Given the description of an element on the screen output the (x, y) to click on. 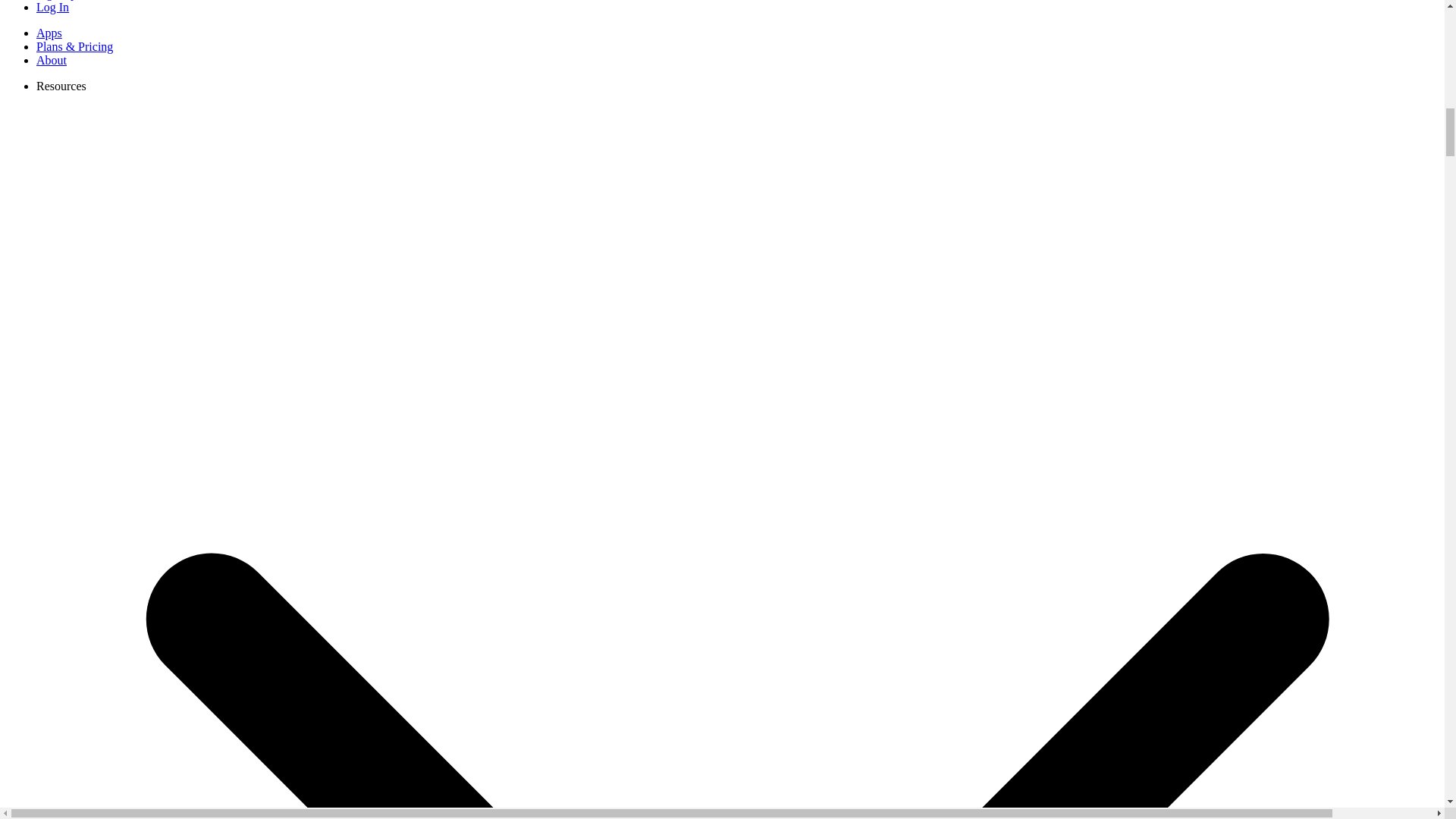
Log In (52, 6)
About (51, 60)
Apps (49, 32)
